Given the description of an element on the screen output the (x, y) to click on. 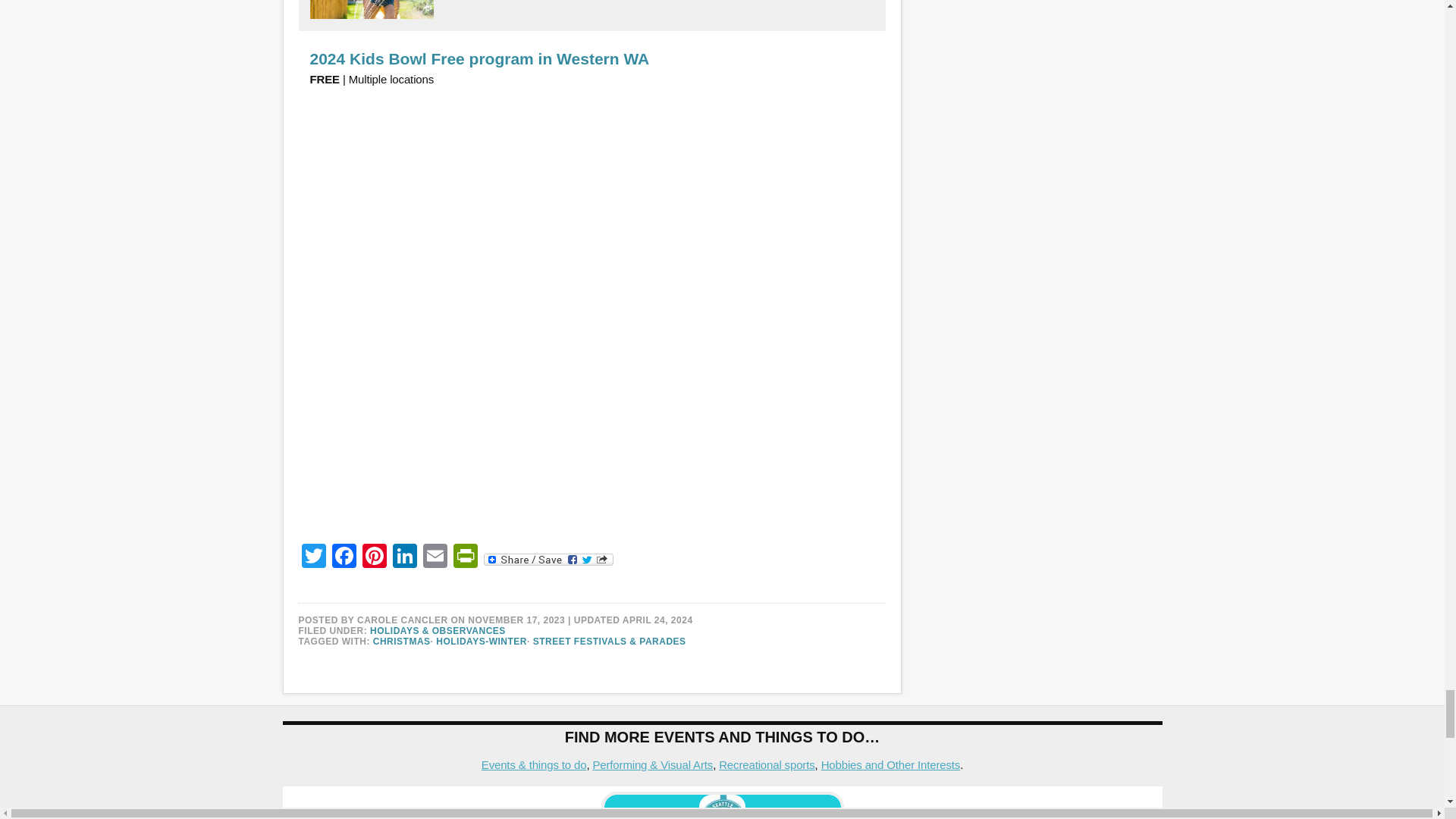
Email (434, 557)
Twitter (313, 557)
LinkedIn (405, 557)
PrintFriendly (464, 557)
Facebook (344, 557)
Pinterest (374, 557)
